Given the description of an element on the screen output the (x, y) to click on. 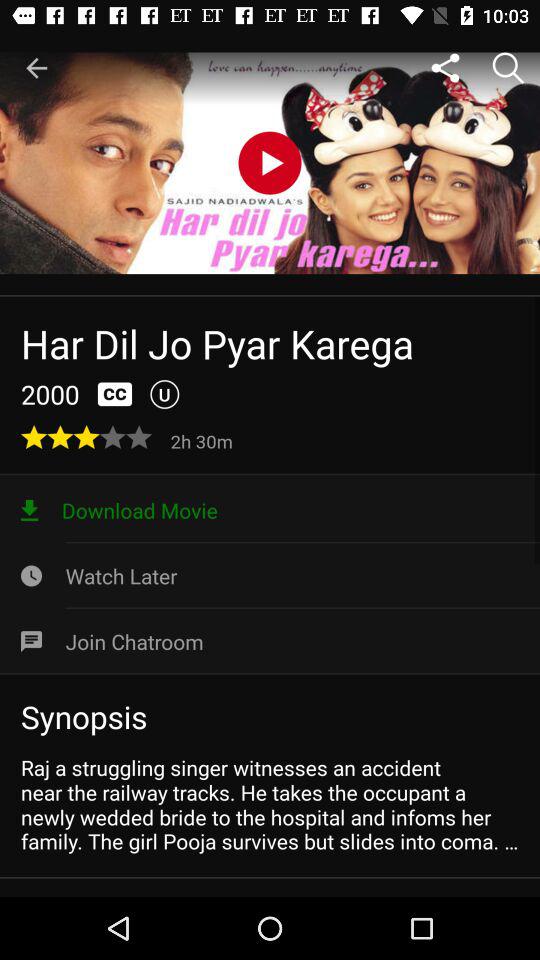
choose the item below the 2h 30m  item (270, 510)
